Given the description of an element on the screen output the (x, y) to click on. 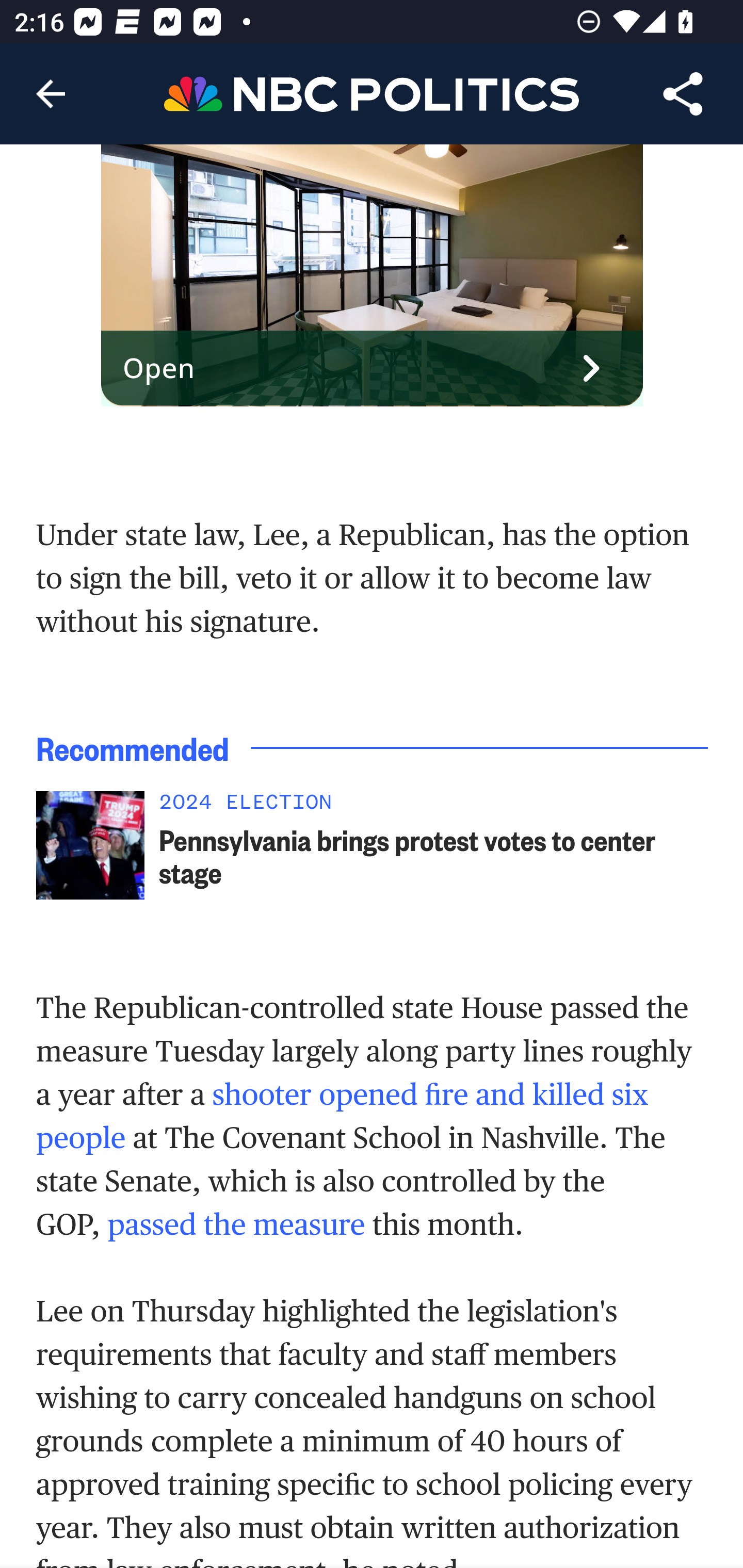
Navigate up (50, 93)
Share Article, button (683, 94)
Header, NBC Politics (371, 93)
apartments-inner2 (372, 277)
Open (372, 369)
2024 ELECTION (434, 808)
pennsylvania-trump-biden-protest-votes-rcna149261 (90, 847)
Pennsylvania brings protest votes to center stage (434, 858)
shooter opened fire and killed six people  (343, 1117)
passed the measure (236, 1225)
